Given the description of an element on the screen output the (x, y) to click on. 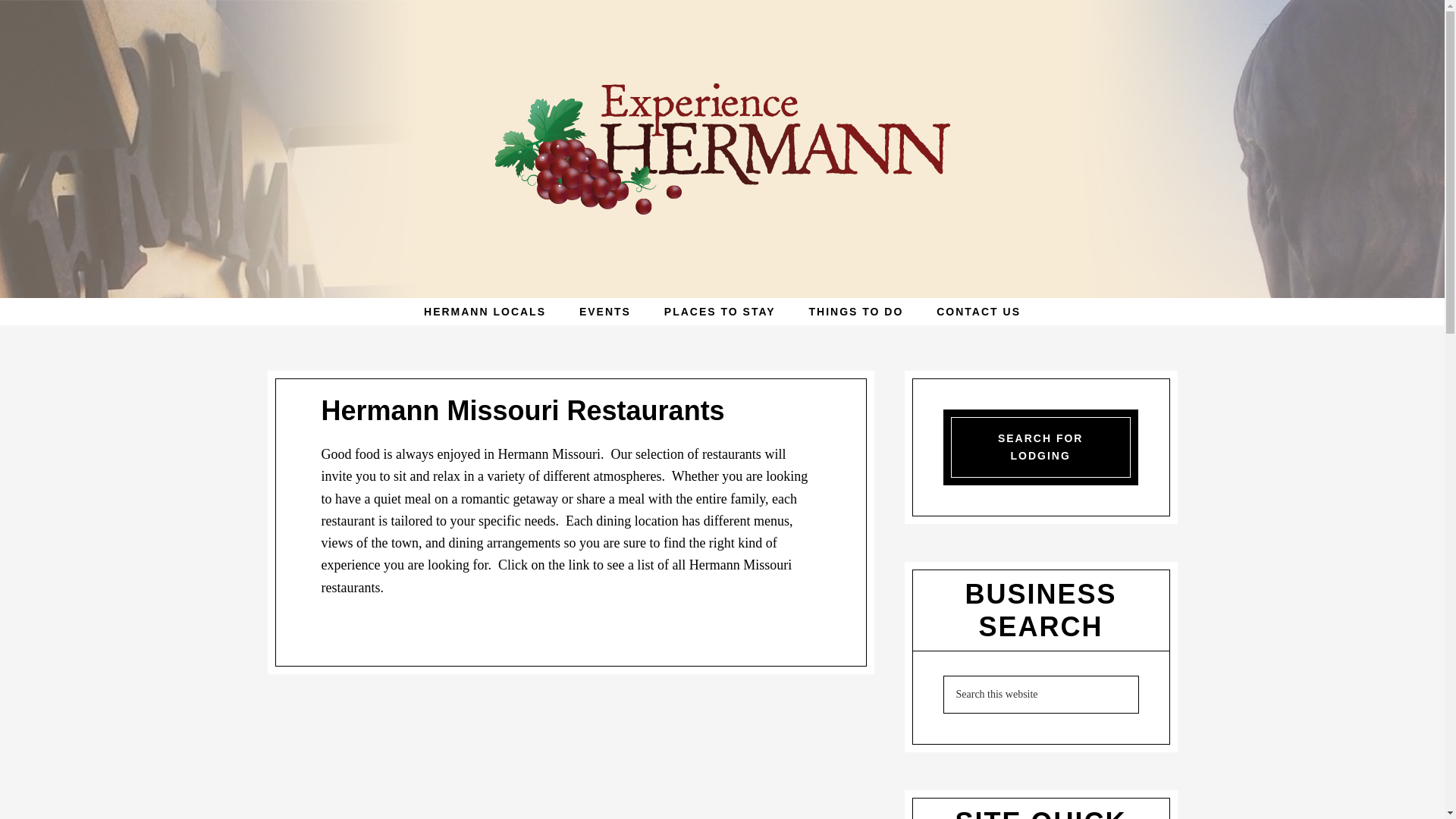
PLACES TO STAY (719, 311)
HERMANN LOCALS (484, 311)
CONTACT US (978, 311)
EXPERIENCE HERMANN MISSOURI (722, 148)
SEARCH FOR LODGING (1040, 446)
EVENTS (605, 311)
THINGS TO DO (855, 311)
